Given the description of an element on the screen output the (x, y) to click on. 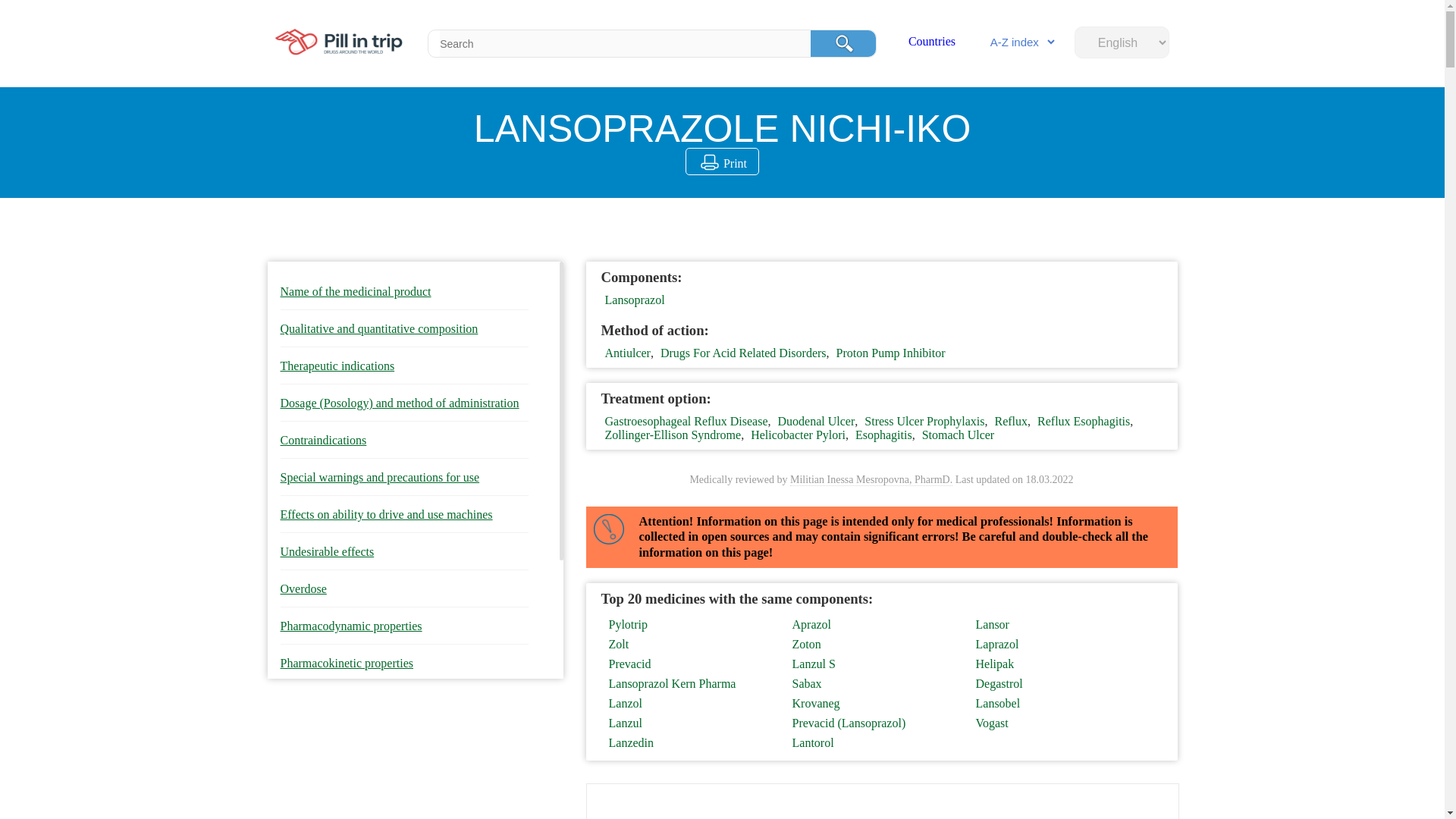
Special precautions for disposal and other handling (405, 806)
Qualitative and quantitative composition (405, 329)
Esophagitis (884, 434)
Countries (931, 41)
Laprazol (1058, 644)
Prevacid (692, 664)
Lansor (1058, 624)
Overdose (405, 589)
Aprazol (875, 624)
Helicobacter Pylori (798, 434)
